Given the description of an element on the screen output the (x, y) to click on. 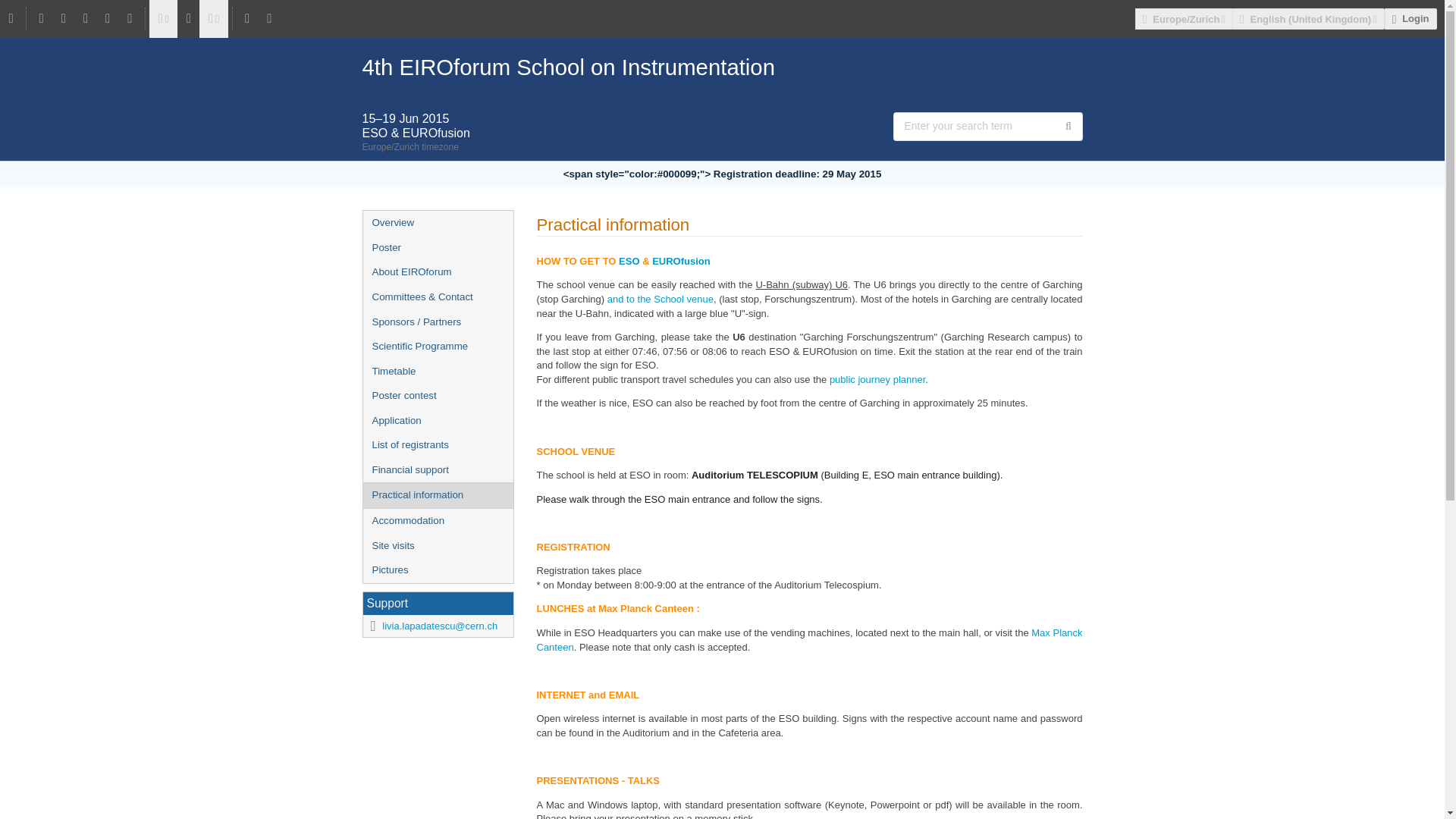
About EIROforum (437, 272)
Overview (437, 222)
Login (1410, 19)
4th EIROforum School on Instrumentation (722, 67)
Poster (437, 248)
